Given the description of an element on the screen output the (x, y) to click on. 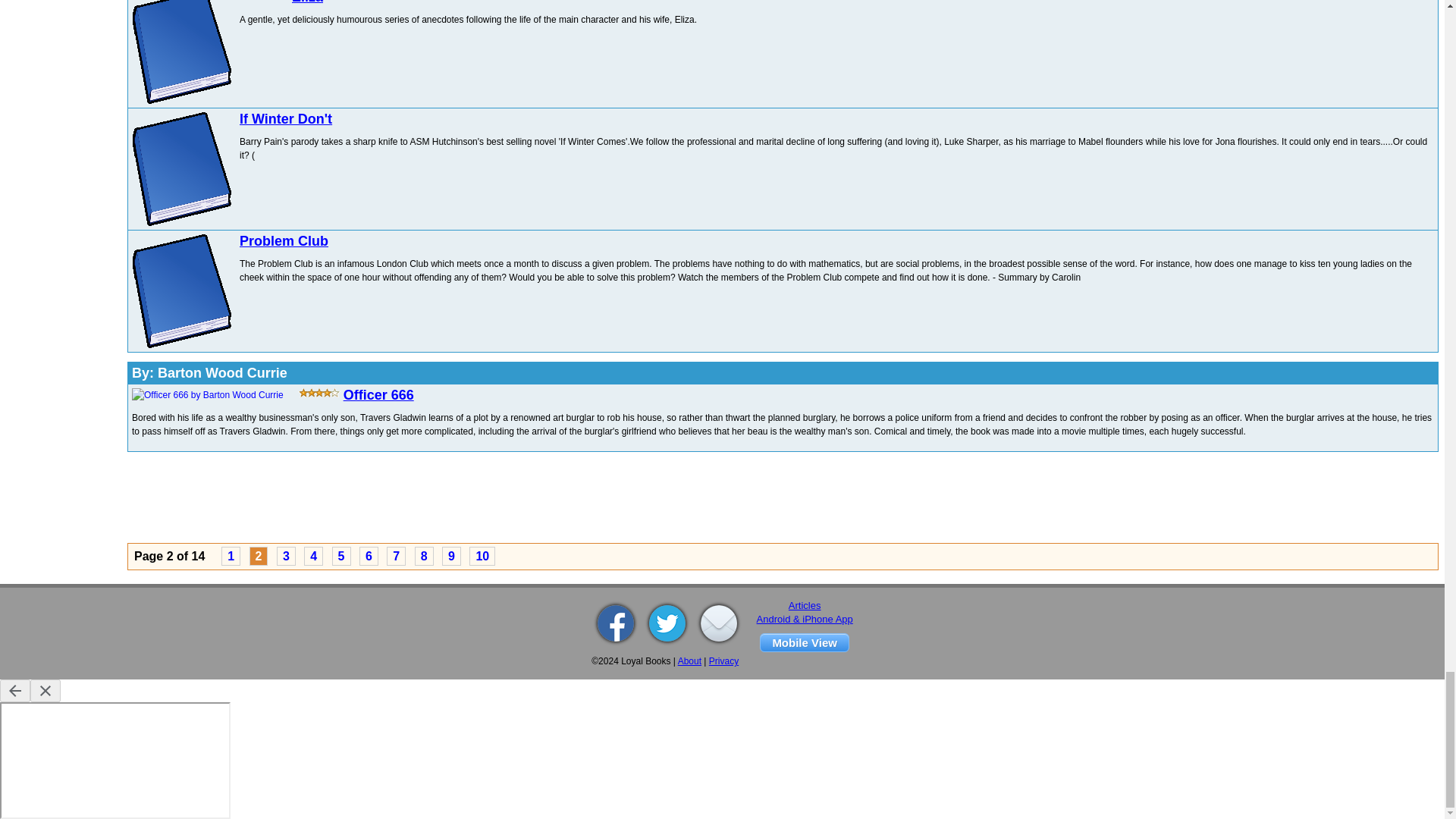
Mobile View (804, 642)
